Given the description of an element on the screen output the (x, y) to click on. 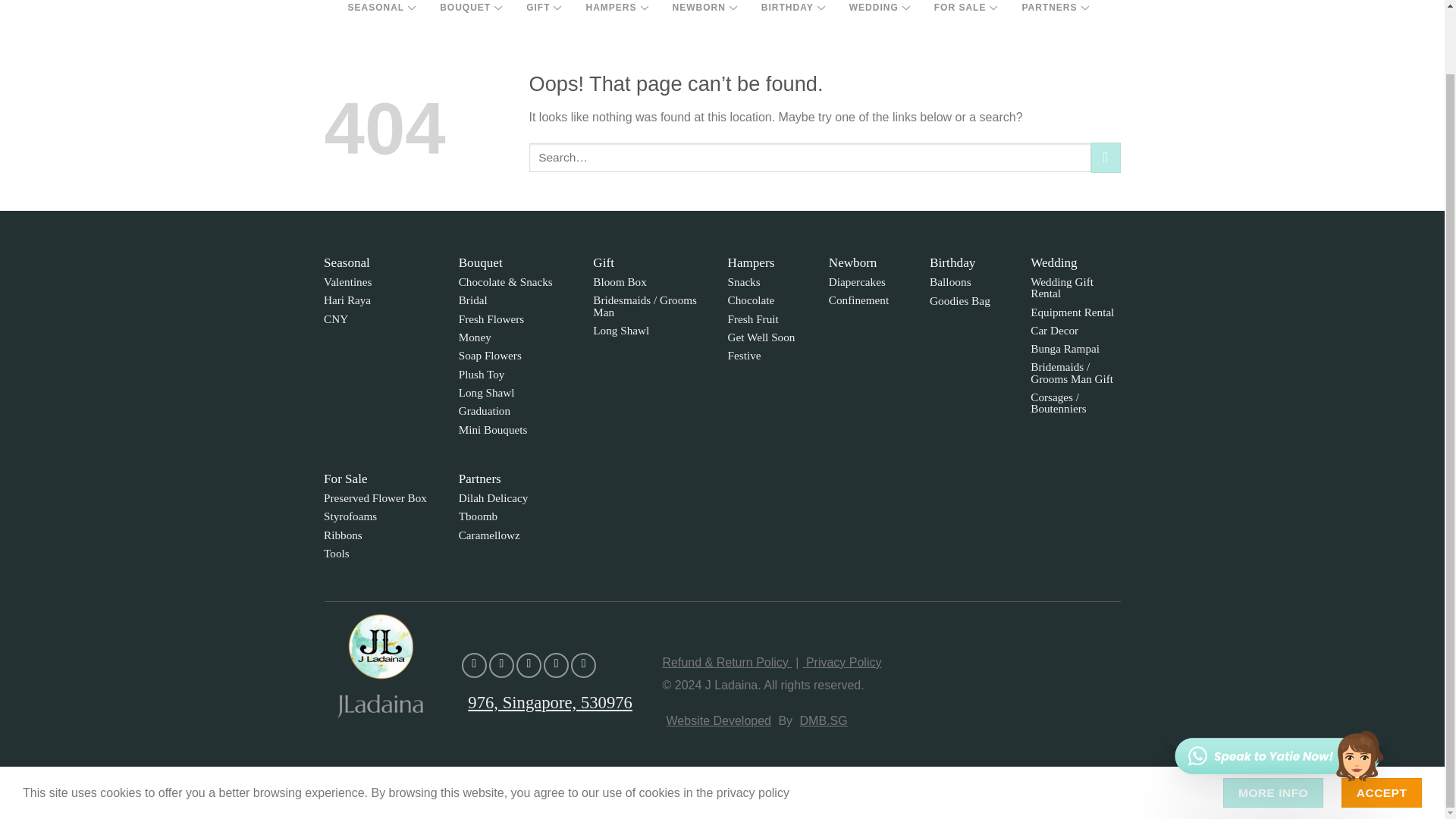
BOUQUET (469, 12)
Follow on Facebook (473, 665)
Follow on TikTok (528, 665)
HAMPERS (615, 12)
SEASONAL (380, 12)
Follow on Instagram (501, 665)
Call us (582, 665)
GIFT (542, 12)
Send us an email (556, 665)
